Given the description of an element on the screen output the (x, y) to click on. 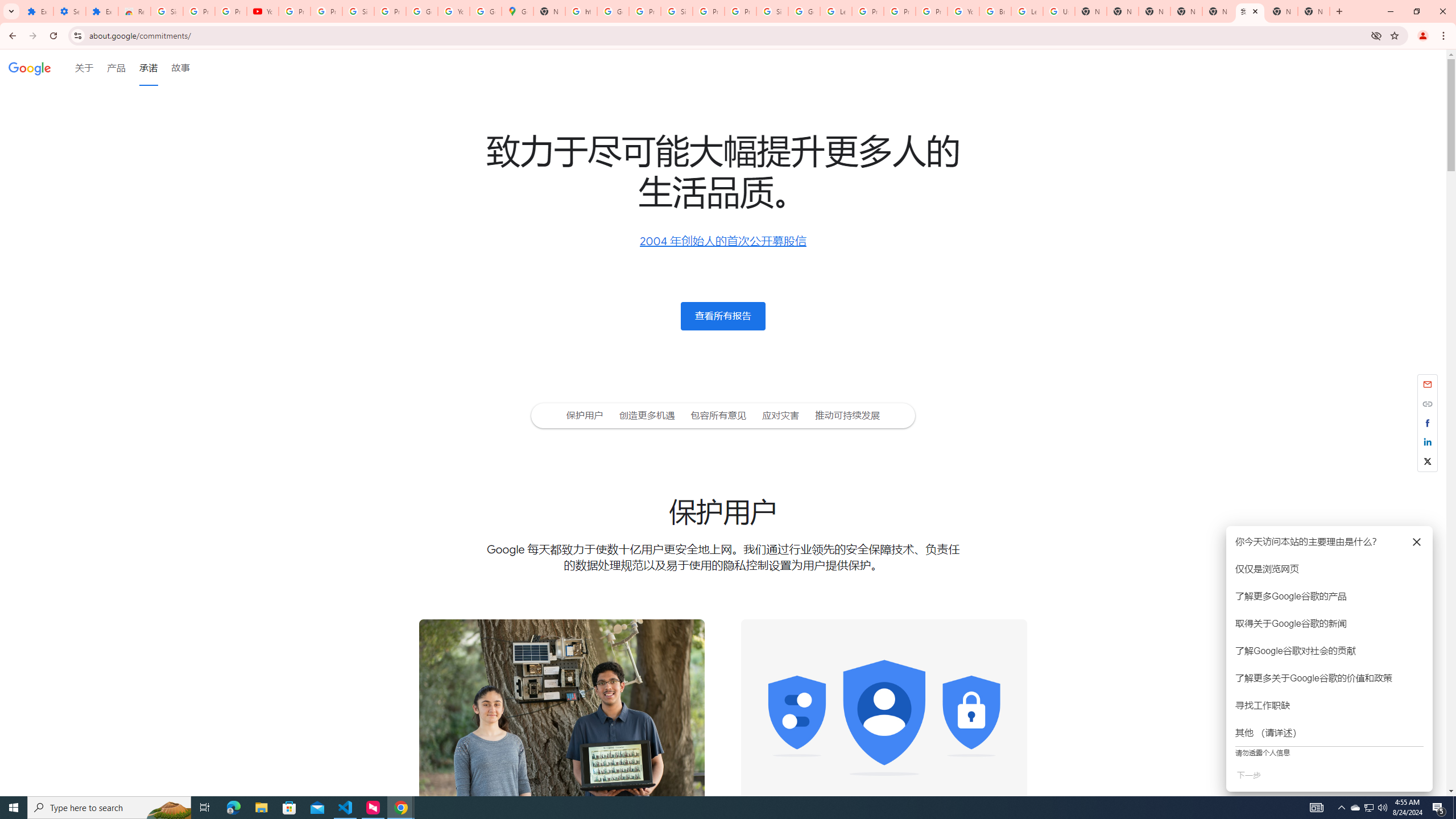
Address and search bar (726, 35)
YouTube (262, 11)
Sign in - Google Accounts (166, 11)
New Tab (1154, 11)
